Given the description of an element on the screen output the (x, y) to click on. 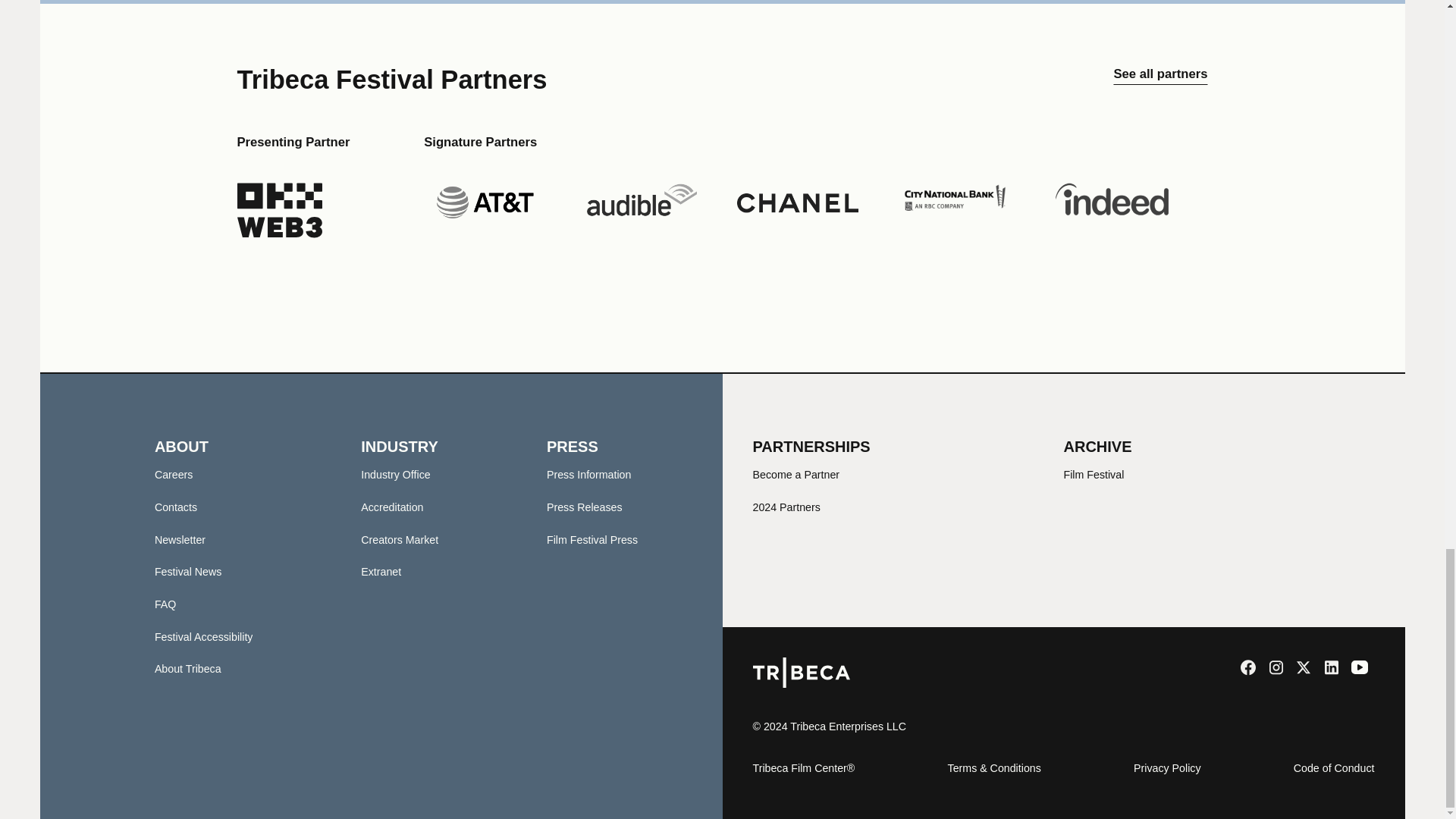
See all partners (1160, 79)
FAQ (165, 604)
Industry Office (395, 474)
About Tribeca (187, 668)
Careers (173, 474)
Contacts (175, 507)
Newsletter (179, 539)
Festival News (188, 571)
Festival Accessibility (203, 636)
